Given the description of an element on the screen output the (x, y) to click on. 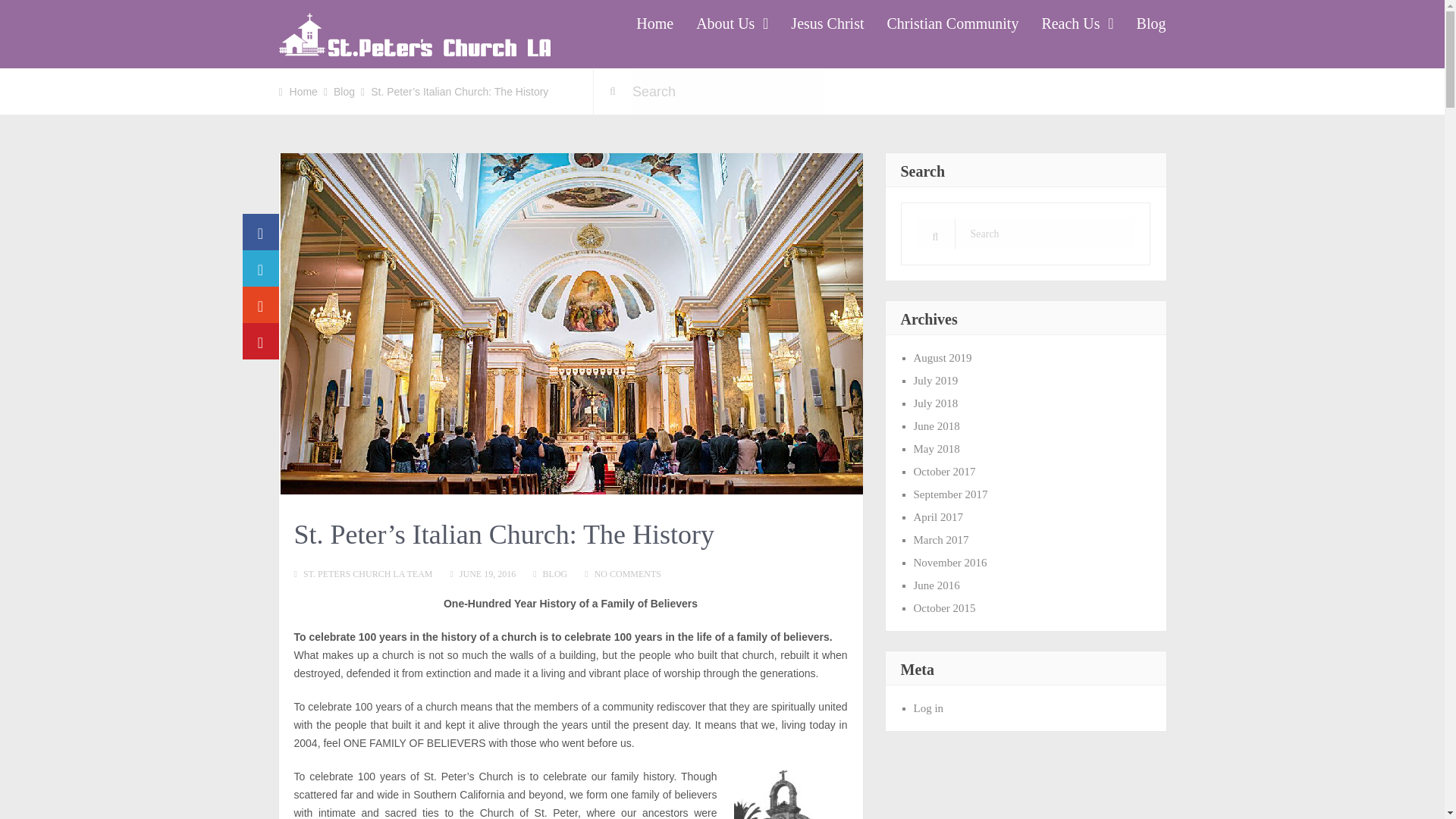
BLOG (555, 573)
June 2016 (935, 585)
May 2018 (935, 449)
October 2017 (943, 471)
November 2016 (949, 562)
Reach Us (1077, 23)
Christian Community (951, 23)
View all posts in Blog (555, 573)
July 2018 (935, 403)
September 2017 (949, 494)
NO COMMENTS (627, 573)
March 2017 (940, 539)
Blog (344, 91)
Home (654, 23)
Home (303, 91)
